Given the description of an element on the screen output the (x, y) to click on. 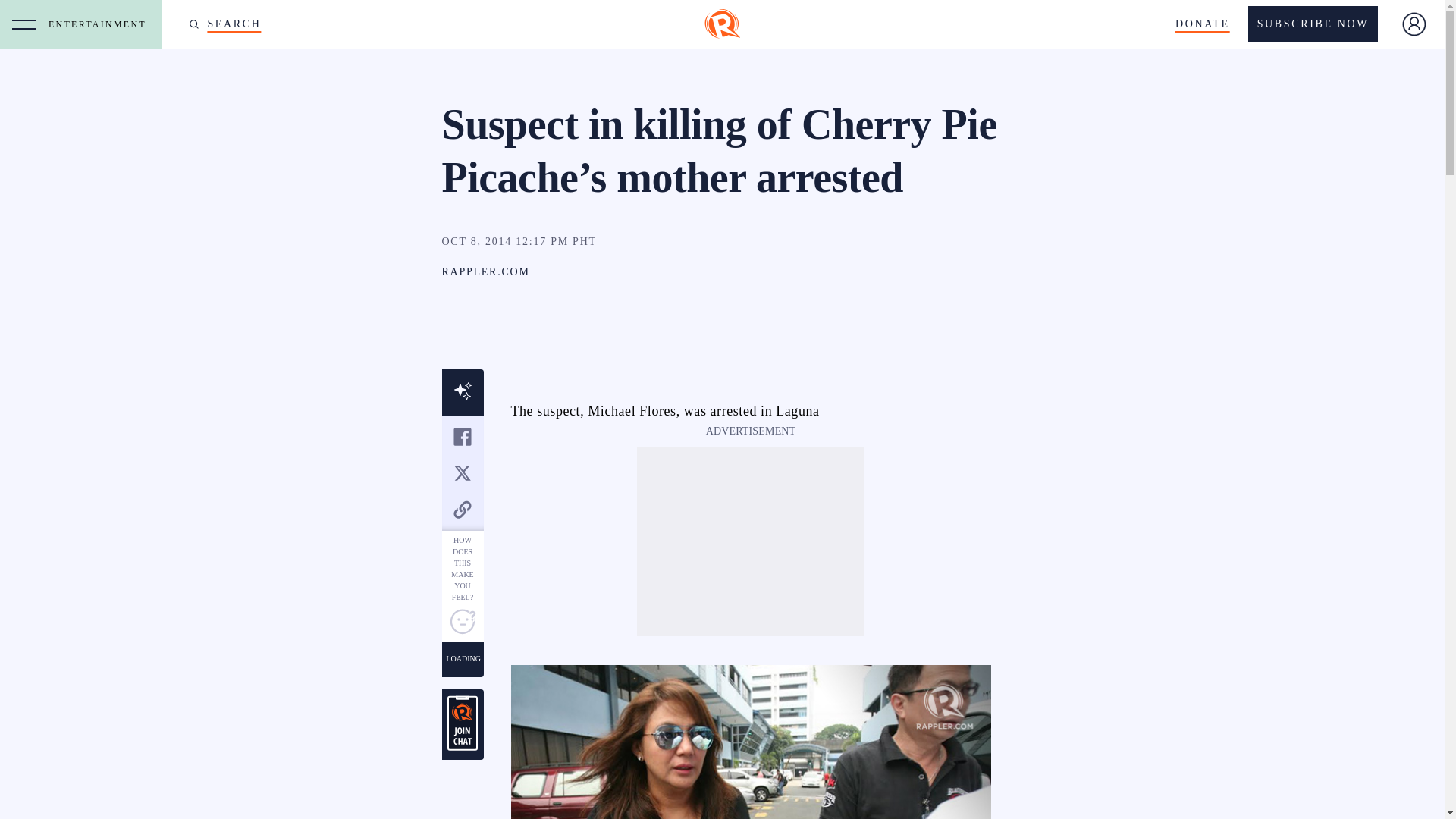
ENTERTAINMENT (101, 23)
OPEN NAVIGATION (24, 24)
